Given the description of an element on the screen output the (x, y) to click on. 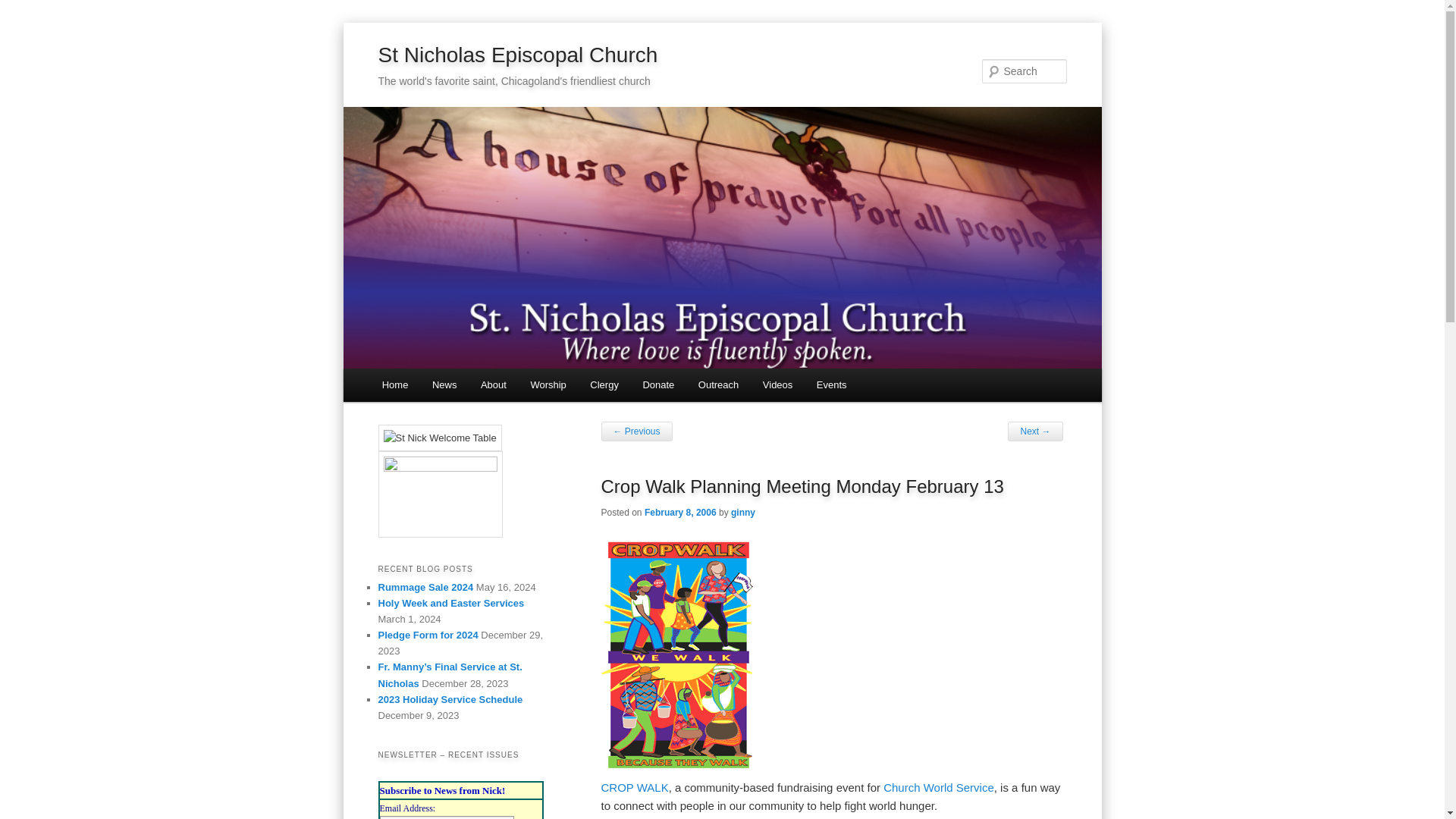
View all posts by ginny (742, 511)
Worship (548, 384)
Worship (548, 384)
About (493, 384)
St Nicholas Episcopal Church (517, 54)
Clergy (604, 384)
Events (832, 384)
St Nicholas Episcopal Church (517, 54)
The Community of St Nicholas Reaching Out (718, 384)
